Given the description of an element on the screen output the (x, y) to click on. 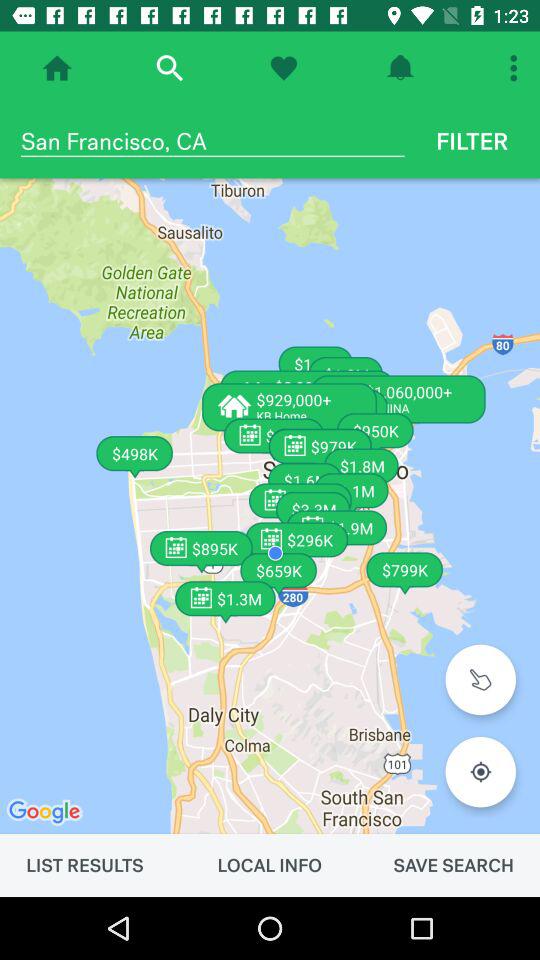
bell icon (400, 68)
